Given the description of an element on the screen output the (x, y) to click on. 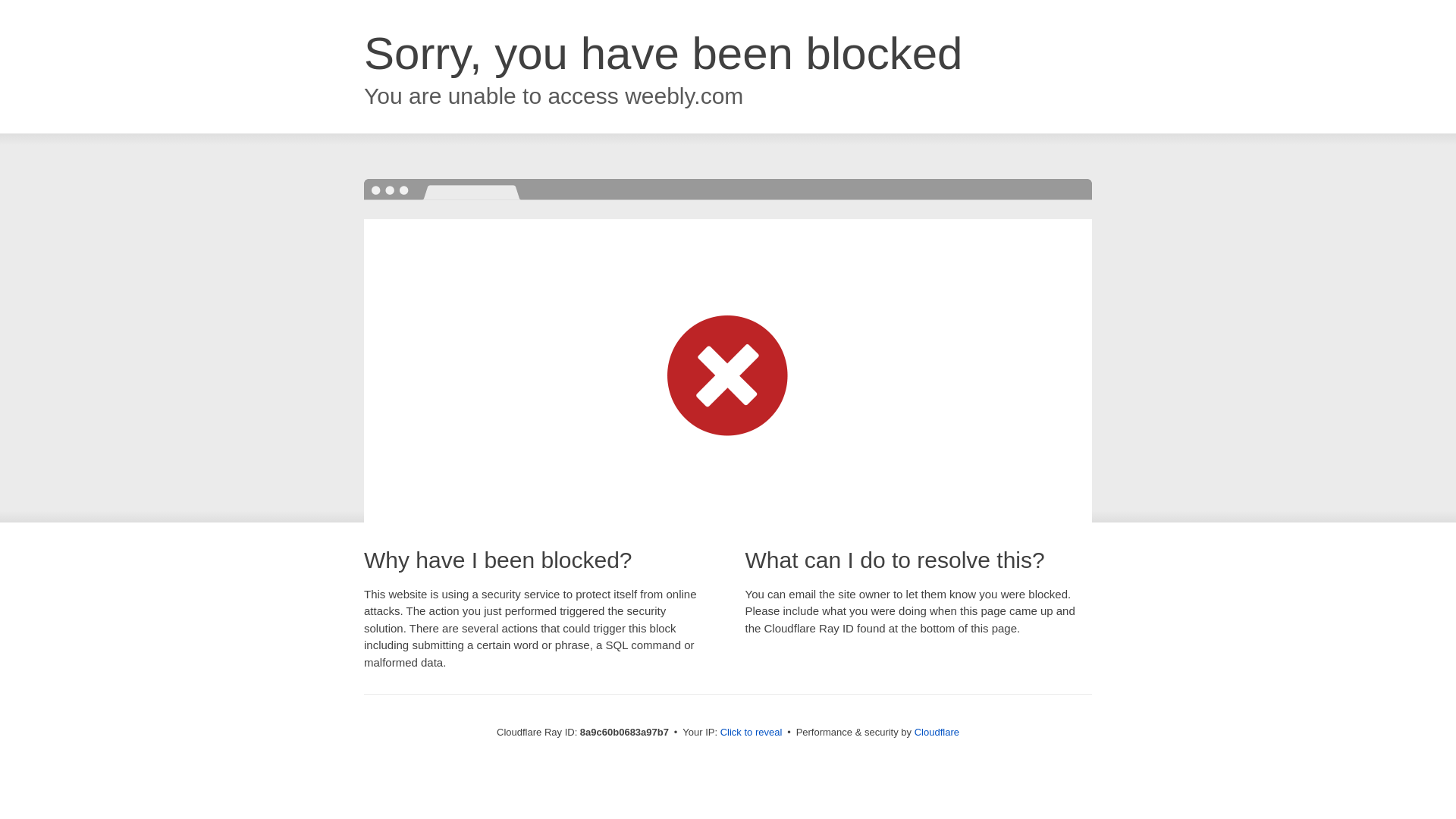
Cloudflare (936, 731)
Click to reveal (751, 732)
